Given the description of an element on the screen output the (x, y) to click on. 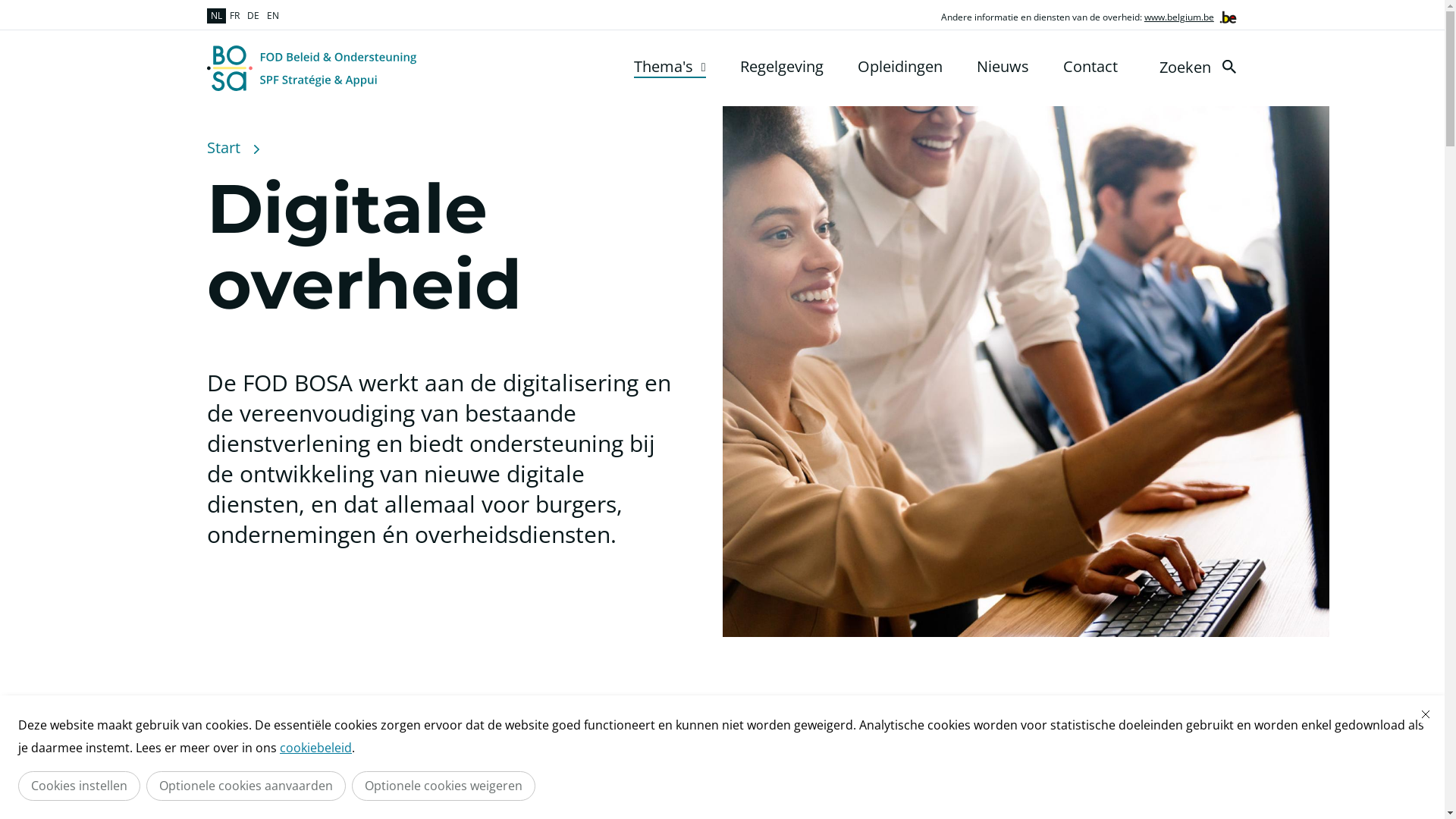
EN Element type: text (272, 15)
Back to BOSA home page Element type: hover (311, 68)
Overslaan en naar de inhoud gaan Element type: text (7, 4)
Nieuws Element type: text (1002, 66)
Regelgeving Element type: text (781, 66)
Cookies instellen Element type: text (79, 785)
DE Element type: text (252, 15)
Optionele cookies aanvaarden Element type: text (245, 785)
www.belgium.be Element type: text (1179, 16)
NL Element type: text (215, 15)
Start Element type: text (222, 147)
Thema's Element type: text (669, 66)
FR Element type: text (234, 15)
Contact Element type: text (1090, 66)
Opleidingen Element type: text (898, 66)
cookiebeleid Element type: text (315, 747)
Optionele cookies weigeren Element type: text (443, 785)
Sluiten Element type: hover (1425, 714)
Zoeken Element type: hover (1200, 66)
Toepassen Element type: text (1228, 66)
